Given the description of an element on the screen output the (x, y) to click on. 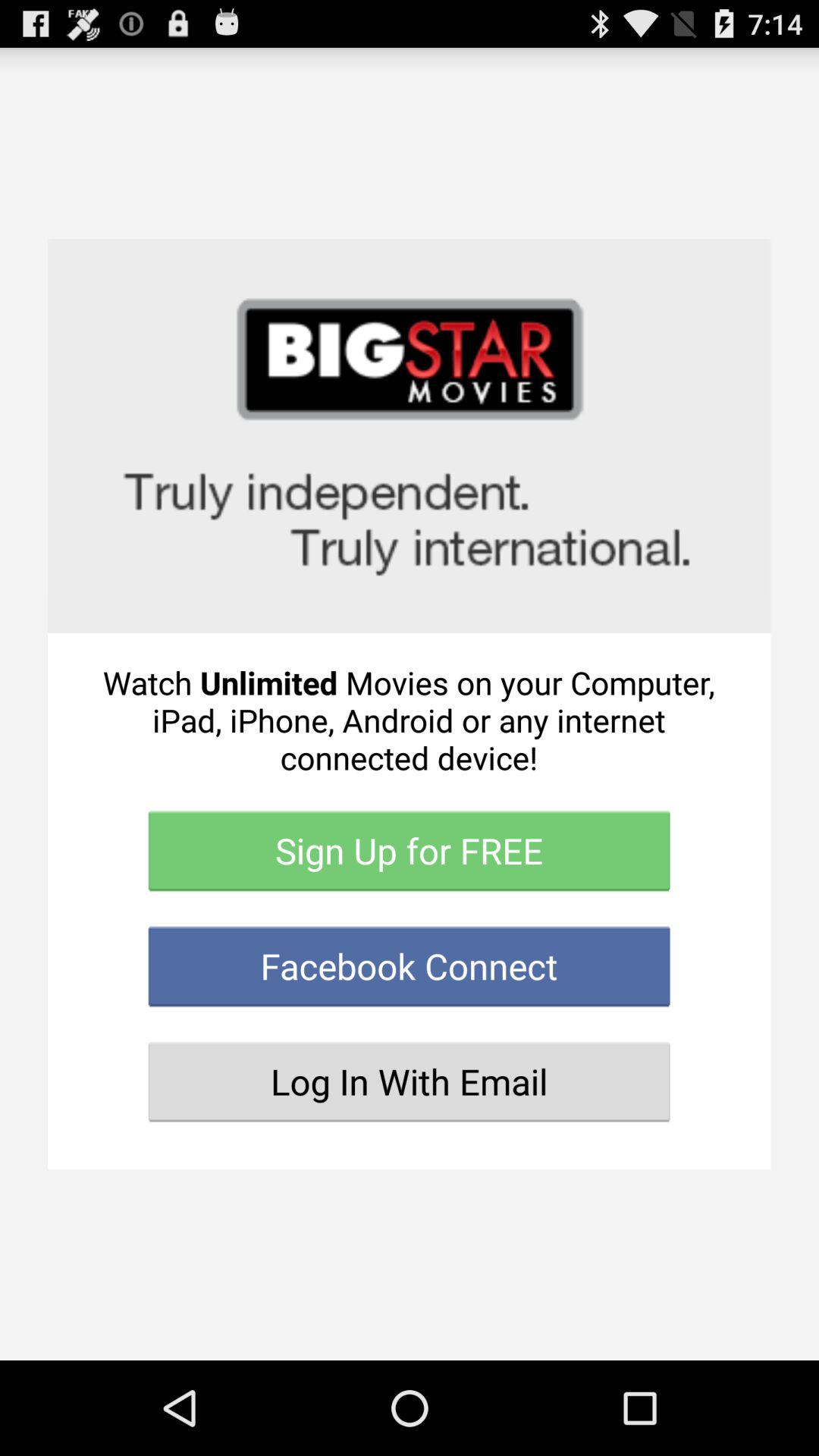
open log in with button (408, 1081)
